Given the description of an element on the screen output the (x, y) to click on. 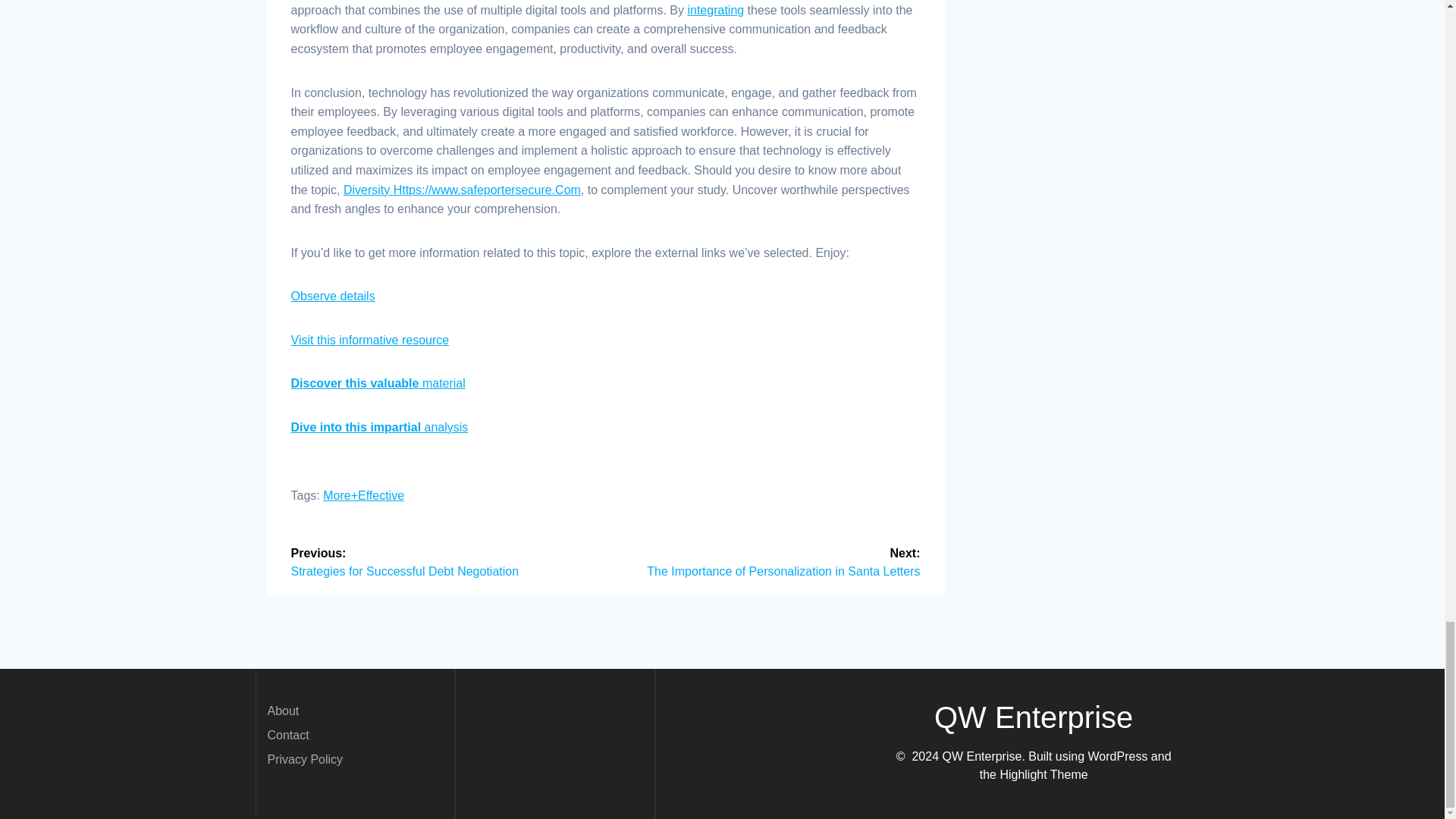
integrating (715, 10)
About (282, 710)
Discover this valuable material (378, 382)
Contact (287, 735)
Privacy Policy (304, 758)
Visit this informative resource (370, 339)
Dive into this impartial analysis (379, 427)
Observe details (333, 295)
